Given the description of an element on the screen output the (x, y) to click on. 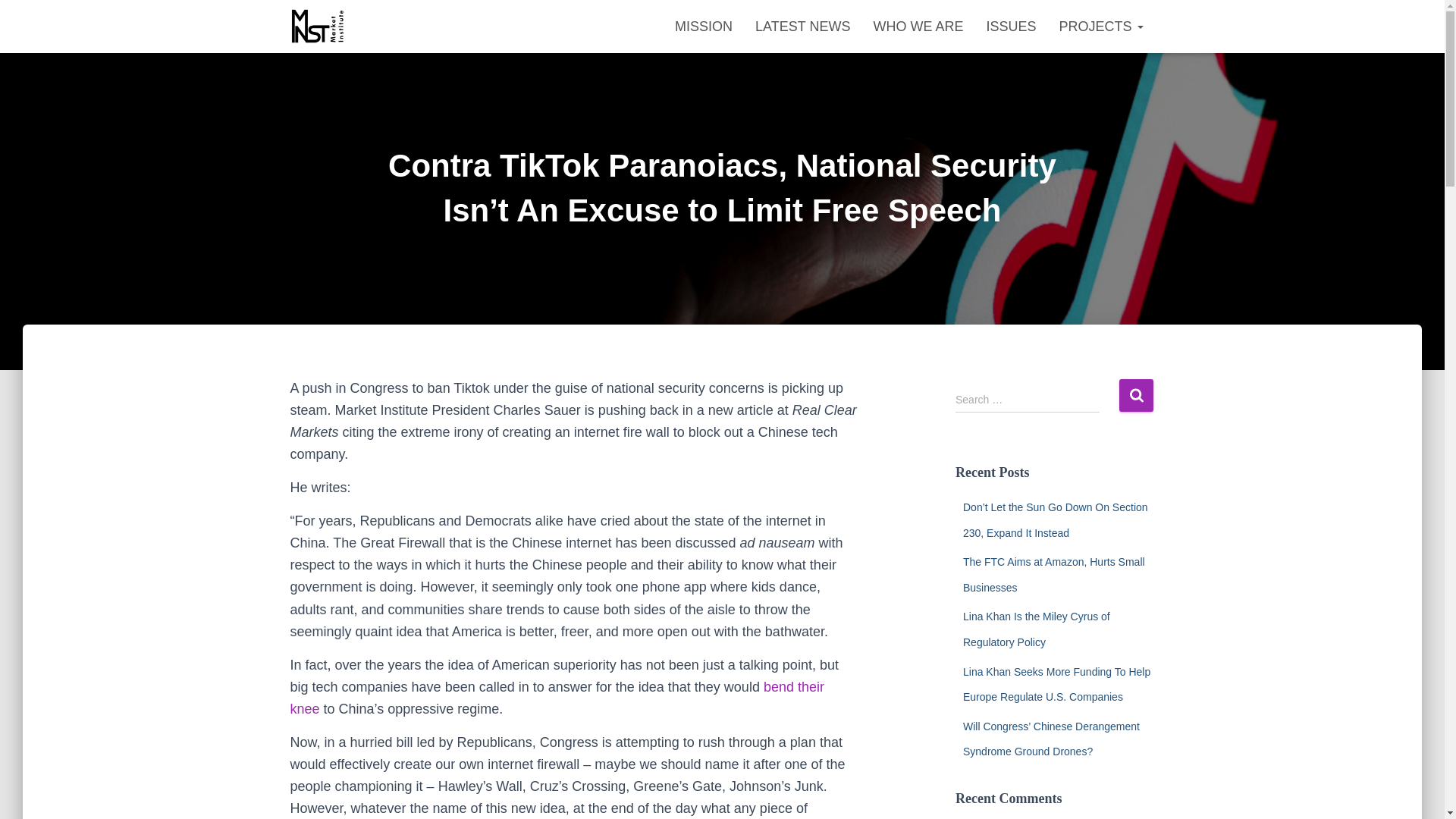
Who We Are (917, 26)
Latest News (802, 26)
WHO WE ARE (917, 26)
LATEST NEWS (802, 26)
Search (1136, 395)
ISSUES (1010, 26)
Issues (1010, 26)
The FTC Aims at Amazon, Hurts Small Businesses (1053, 574)
Search (1136, 395)
Mission (703, 26)
Projects (1100, 26)
MISSION (703, 26)
bend their knee (556, 697)
Lina Khan Is the Miley Cyrus of Regulatory Policy (1035, 629)
Market Institute (318, 26)
